Given the description of an element on the screen output the (x, y) to click on. 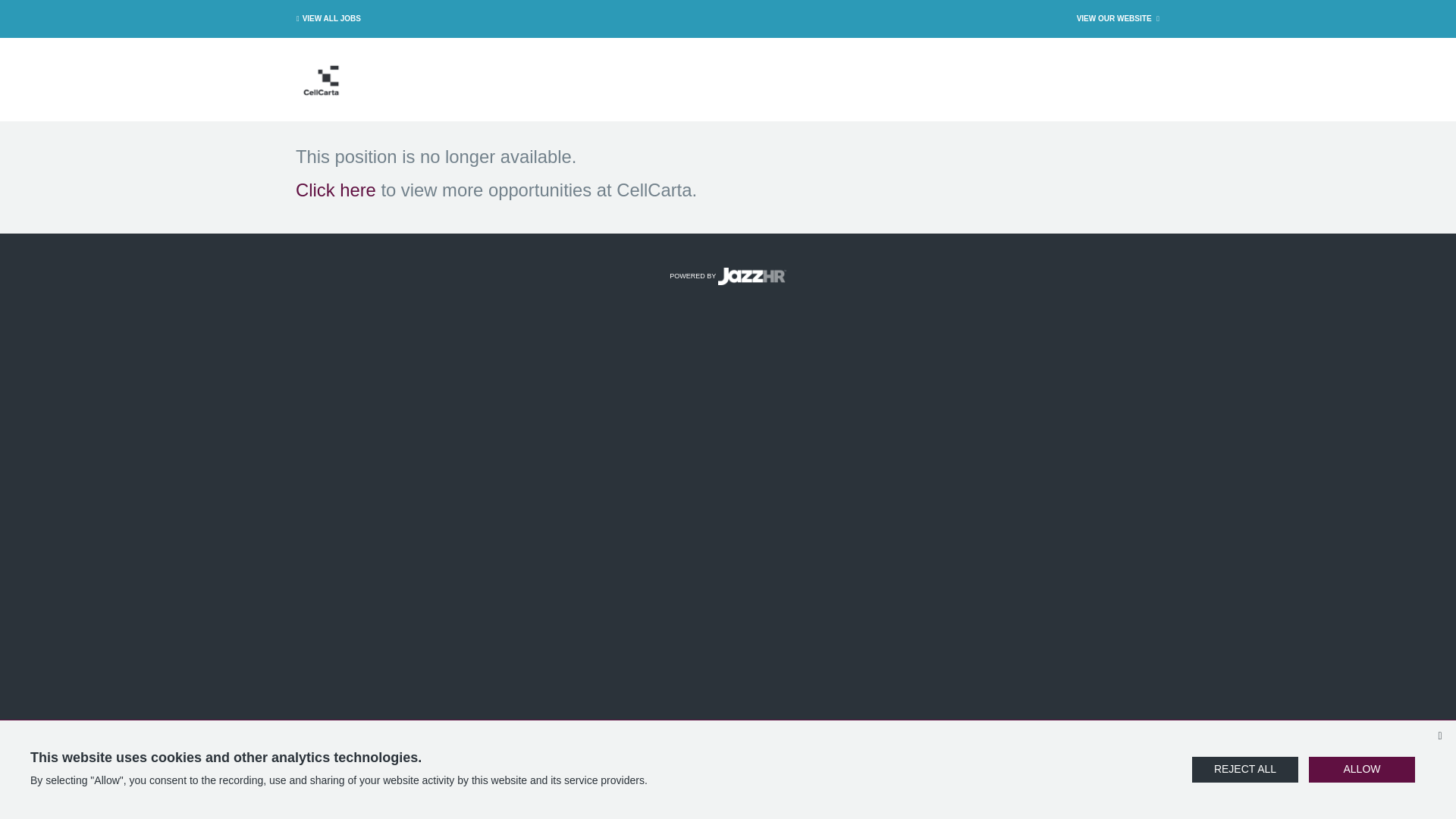
Click here (335, 189)
POWERED BY (727, 275)
VIEW OUR WEBSITE (1119, 18)
VIEW ALL JOBS (326, 18)
